Given the description of an element on the screen output the (x, y) to click on. 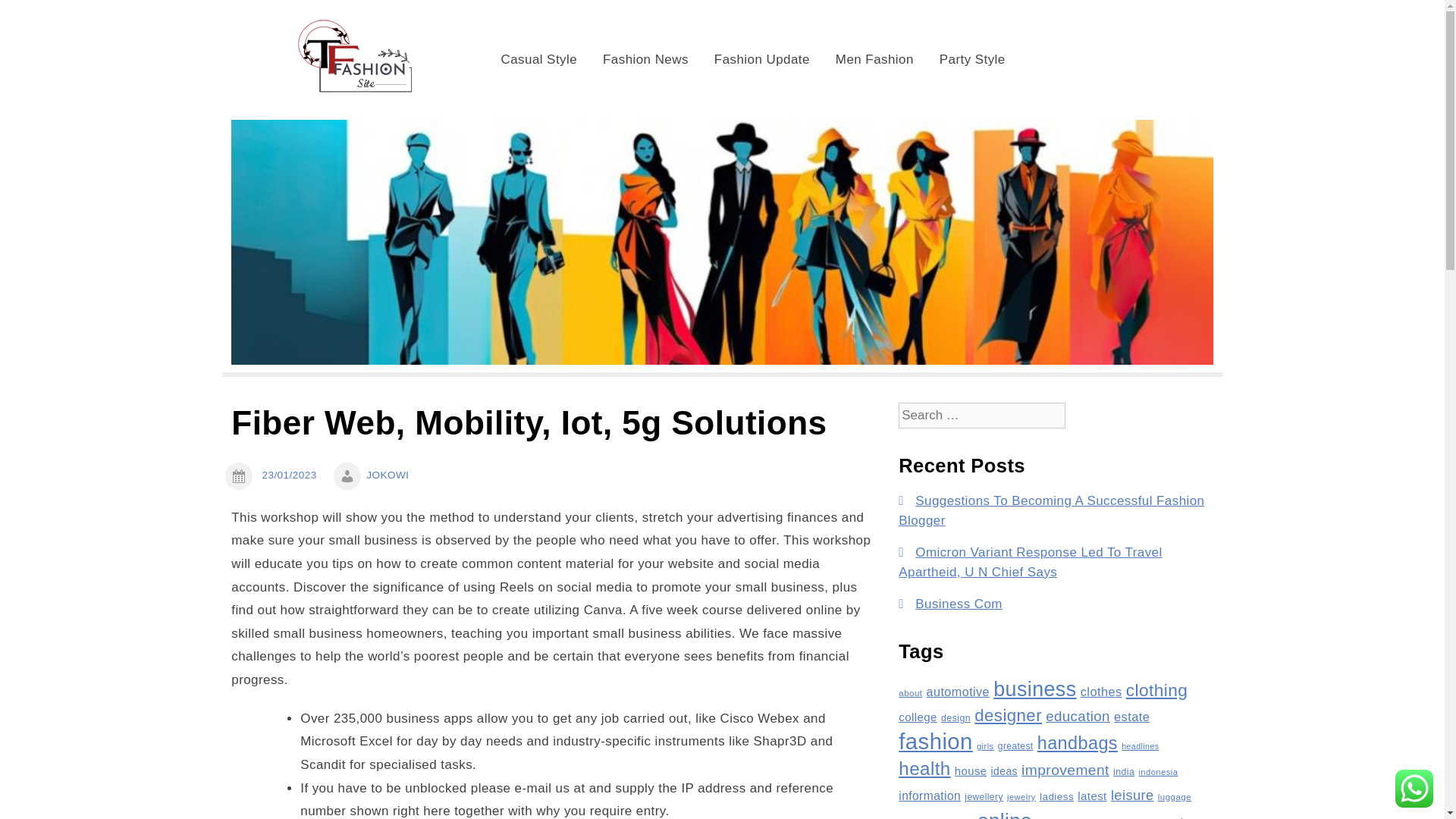
fashion (935, 740)
business (1033, 689)
Fashion Update (761, 59)
designer (1008, 714)
clothing (1156, 690)
Fashion News (645, 59)
Search (35, 15)
clothes (1101, 691)
about (909, 692)
college (917, 716)
